Given the description of an element on the screen output the (x, y) to click on. 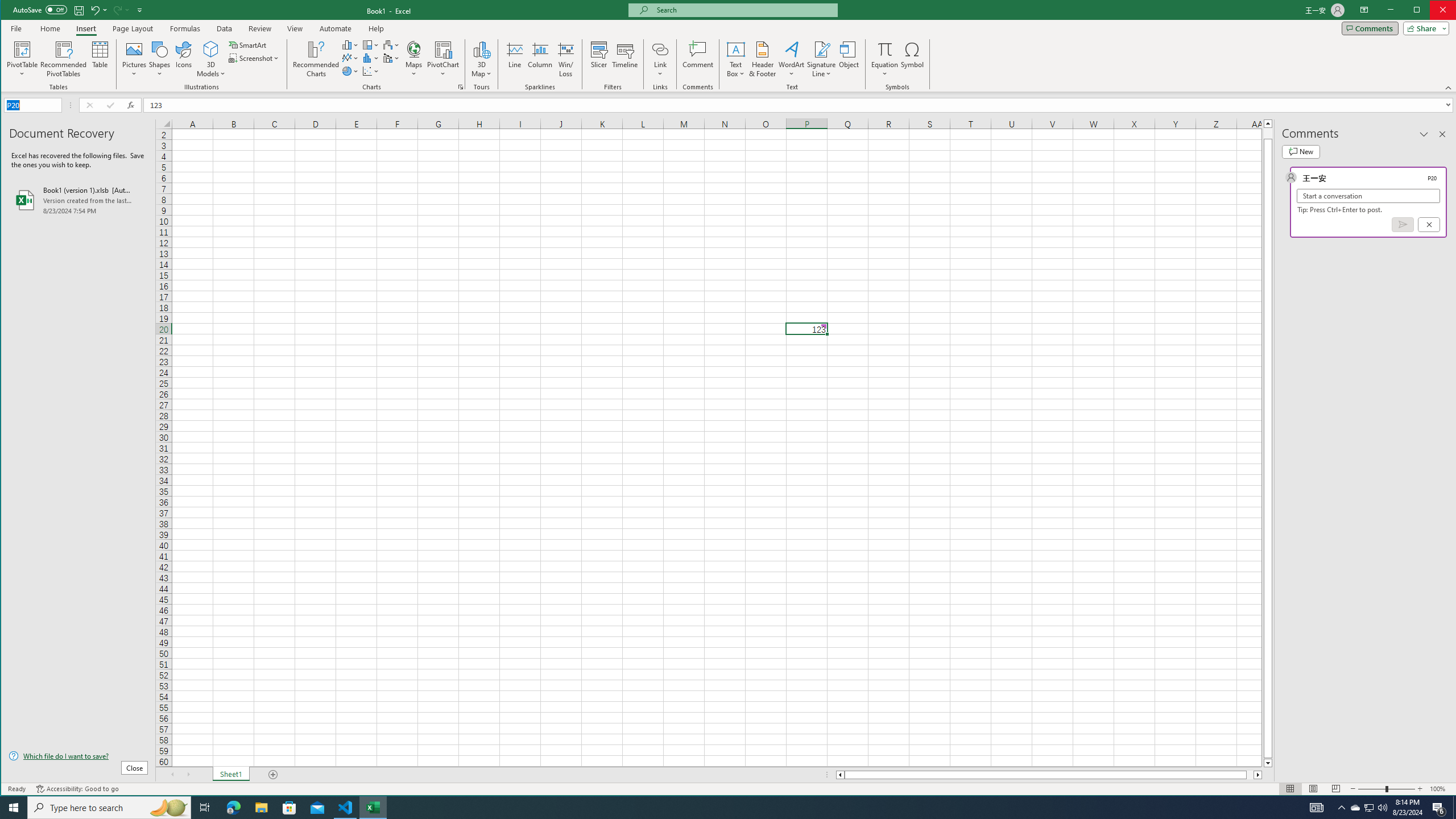
Pictures (134, 59)
Insert Combo Chart (391, 57)
Insert Hierarchy Chart (371, 44)
Screenshot (254, 57)
3D Map (481, 48)
Object... (848, 59)
Excel - 1 running window (373, 807)
Win/Loss (565, 59)
PivotChart (443, 48)
